Given the description of an element on the screen output the (x, y) to click on. 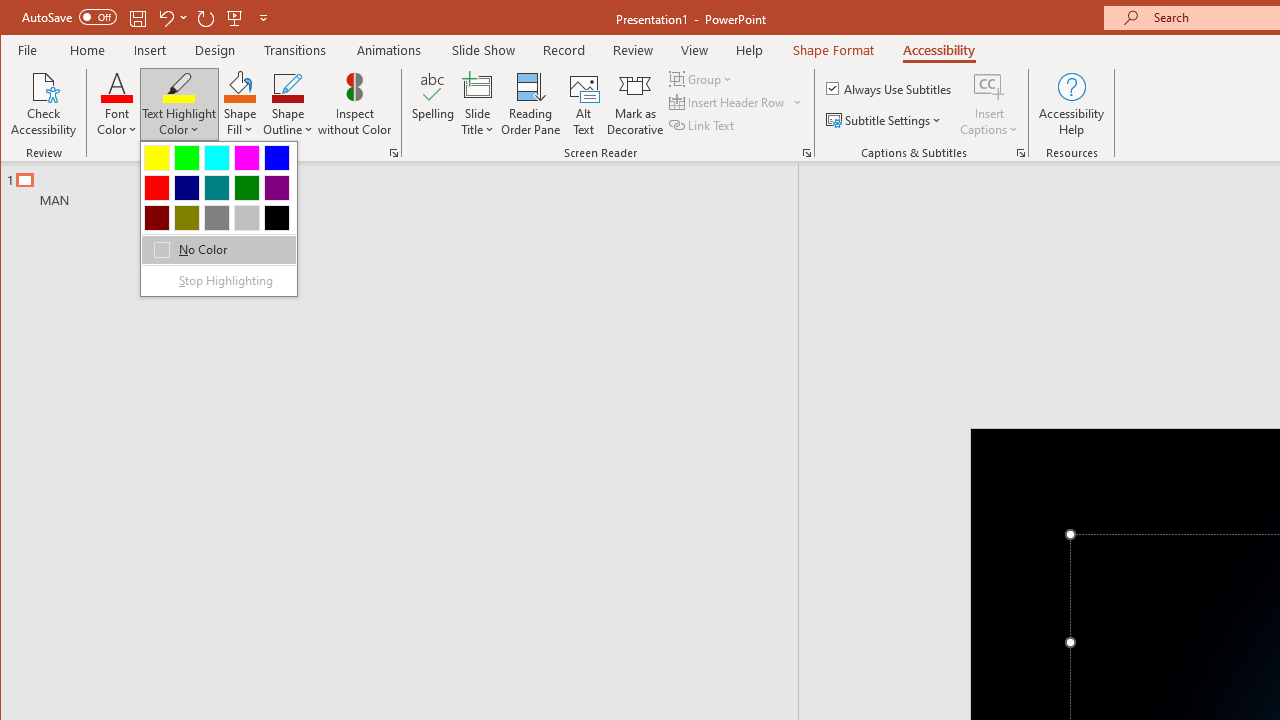
Group (701, 78)
Captions & Subtitles (1020, 152)
Insert Captions (989, 104)
Color & Contrast (393, 152)
